Given the description of an element on the screen output the (x, y) to click on. 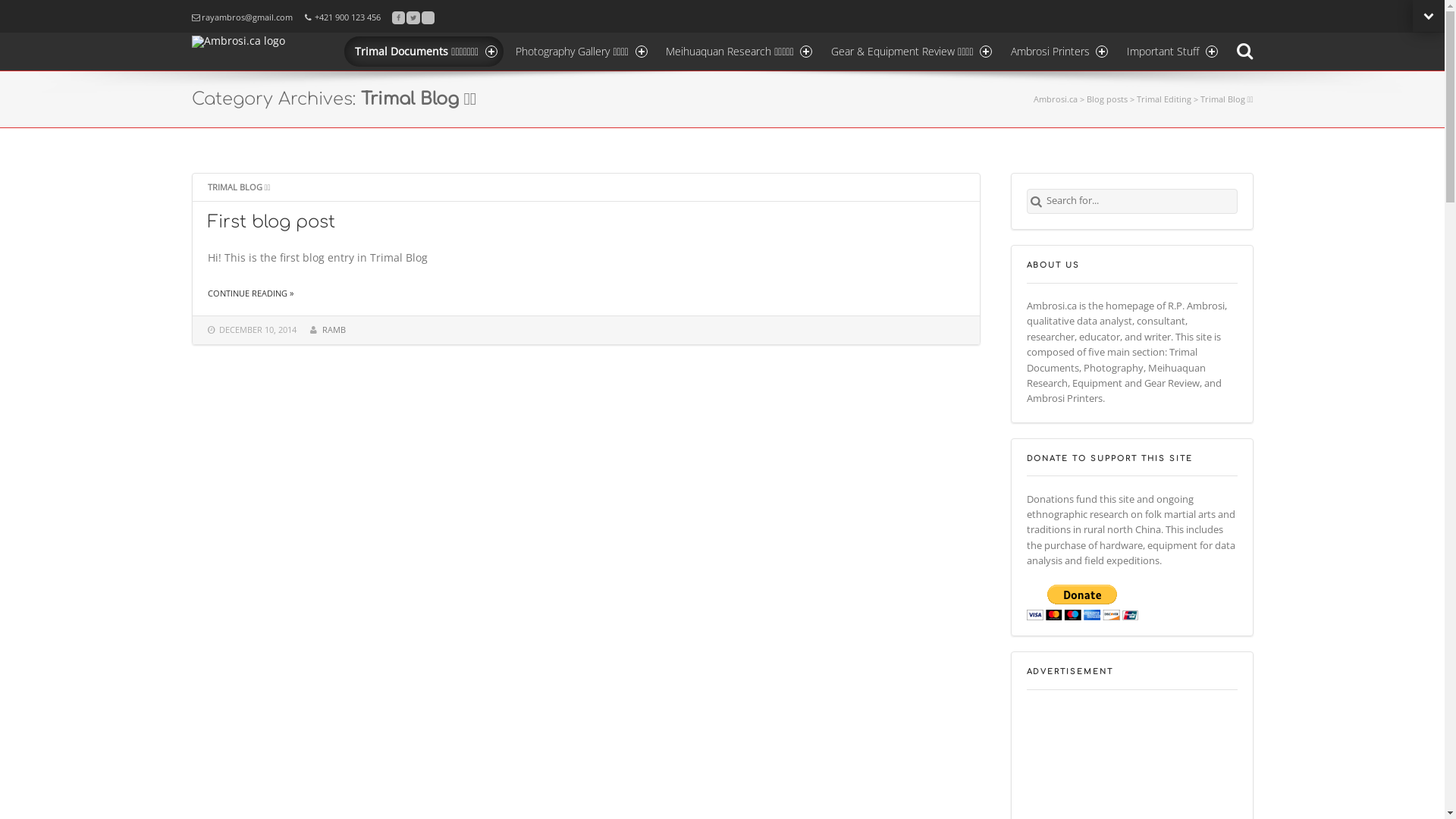
Important Stuff Element type: text (1169, 50)
Ambrosi.ca | Ambrosi.ca Trimal Documents & Consulting Element type: hover (250, 50)
Skip to content Element type: text (342, 31)
Ambrosi.ca
Ambrosi.ca Trimal Documents & Consulting Element type: text (250, 40)
Submit Element type: text (1035, 200)
Ambrosi Printers Element type: text (1057, 50)
Ambrosi.ca Element type: text (1055, 97)
Blog posts Element type: text (1106, 97)
Skip to navigation Element type: text (191, 8)
First blog post Element type: text (271, 221)
RAMB Element type: text (333, 329)
Trimal Editing Element type: text (1163, 97)
Open extra topbar Element type: text (1428, 15)
Search Element type: text (1244, 50)
